Given the description of an element on the screen output the (x, y) to click on. 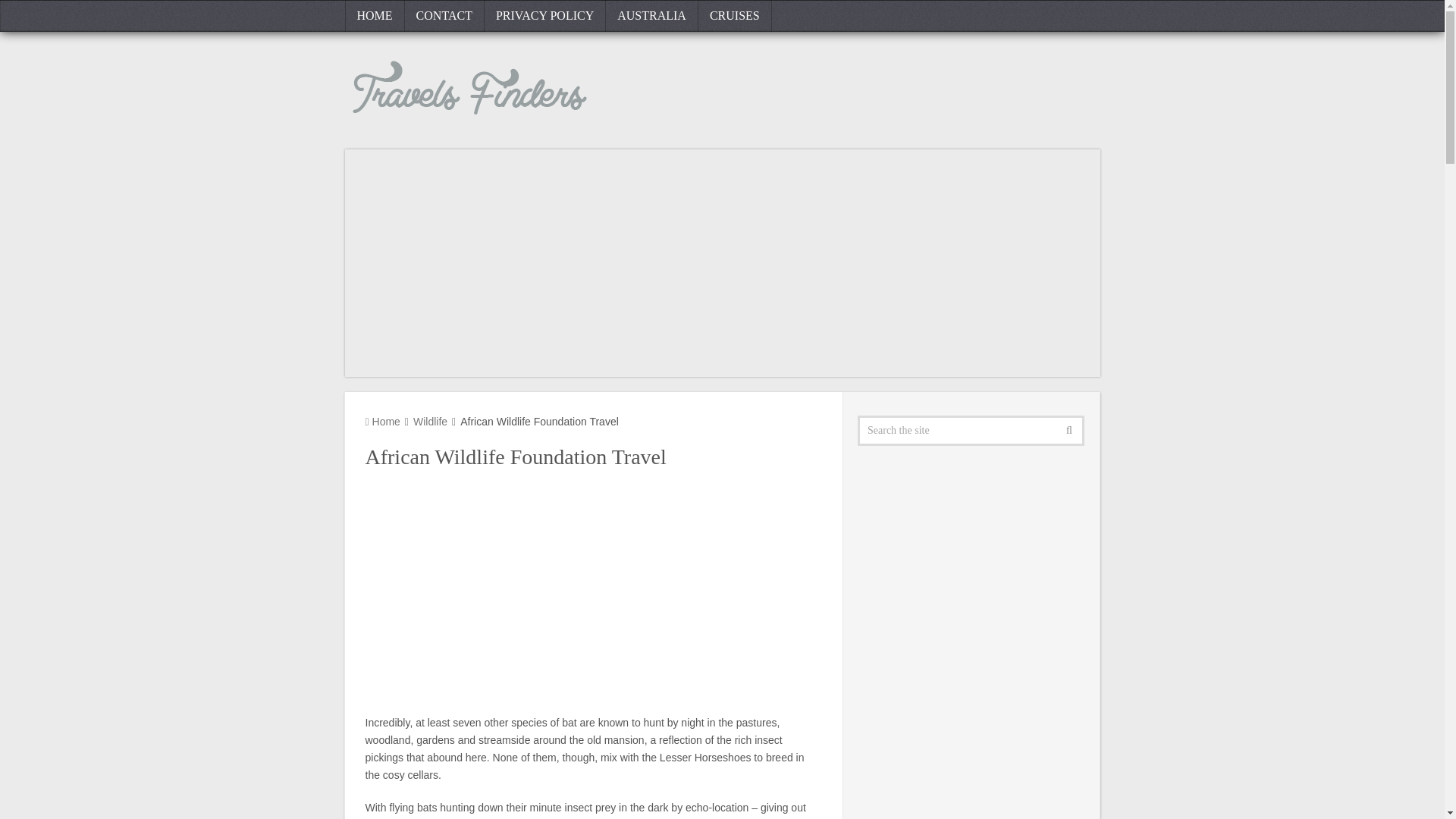
AUSTRALIA (651, 15)
CRUISES (734, 15)
HOME (373, 15)
CONTACT (444, 15)
Wildlife (429, 421)
Home (382, 421)
PRIVACY POLICY (544, 15)
Advertisement (593, 592)
